Given the description of an element on the screen output the (x, y) to click on. 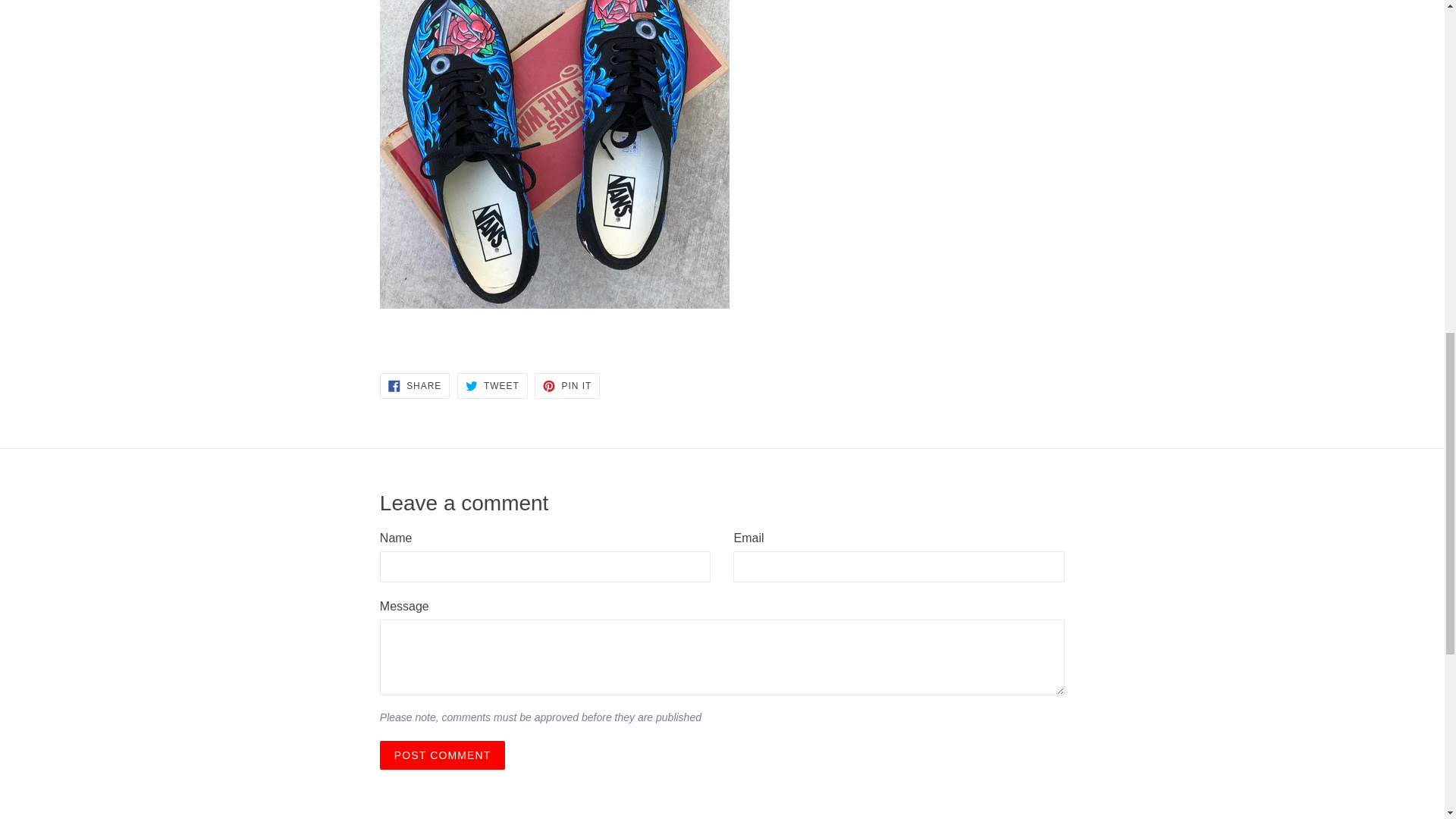
Post comment (442, 755)
Tweet on Twitter (492, 385)
Share on Facebook (414, 385)
Pin on Pinterest (566, 385)
